Given the description of an element on the screen output the (x, y) to click on. 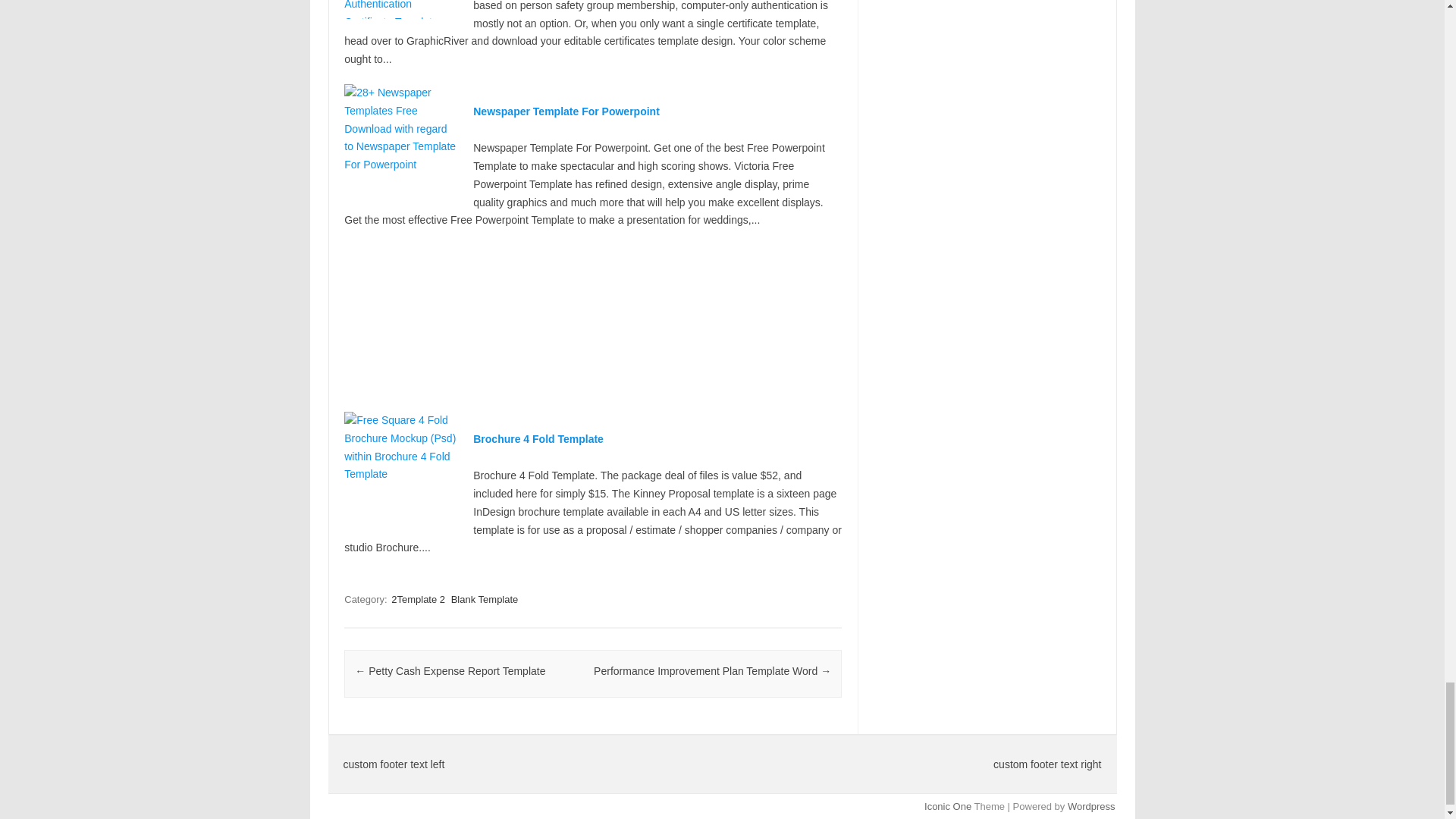
Brochure 4 Fold Template (538, 439)
2Template 2 (418, 599)
Newspaper Template For Powerpoint (566, 111)
Blank Template (484, 599)
